Given the description of an element on the screen output the (x, y) to click on. 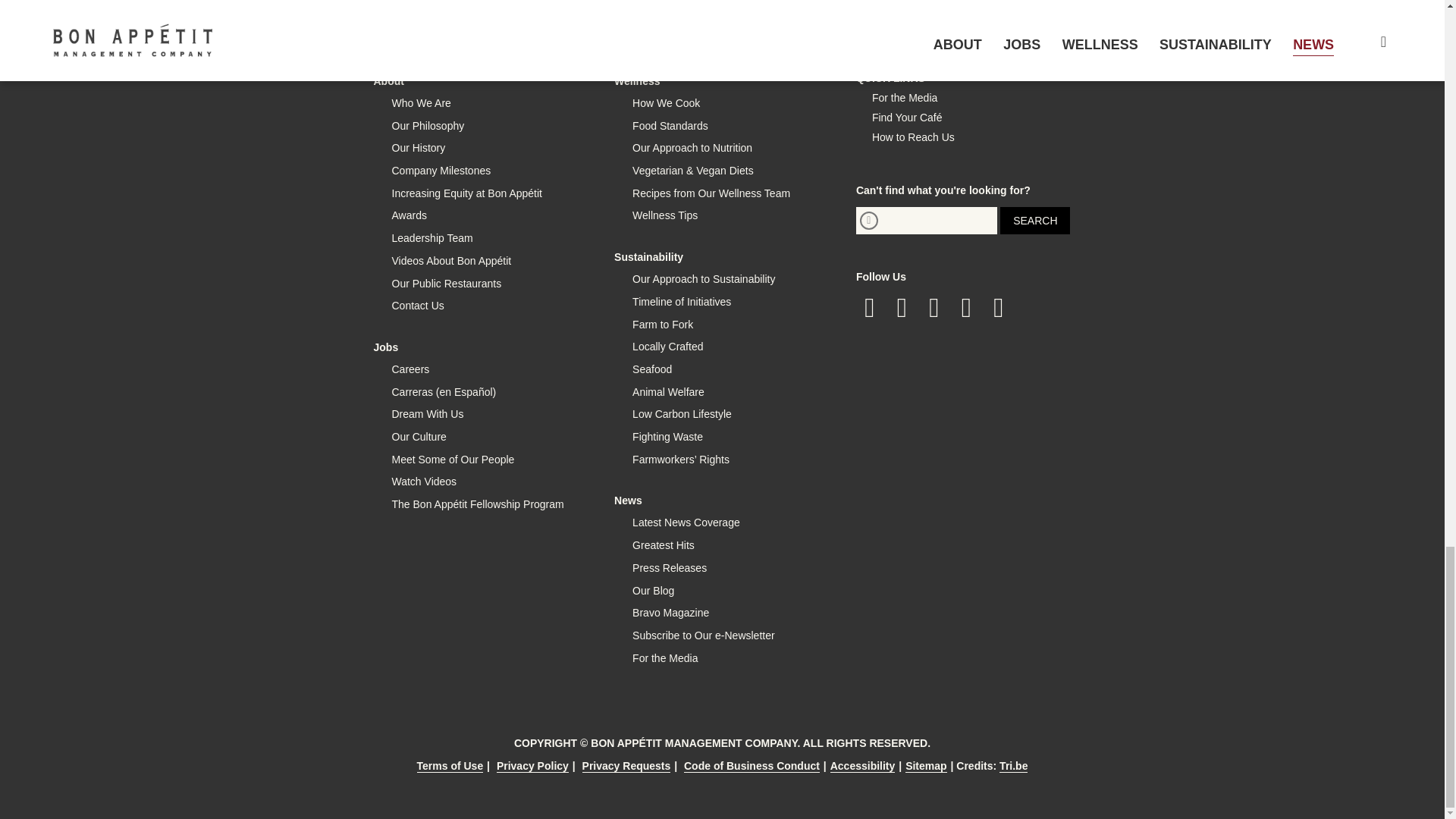
Search (1035, 220)
Follow us on Instagram (933, 308)
Follow us on LinkedIn (965, 308)
Follow us on Twitter (901, 308)
Follow us on Facebook (869, 308)
